Given the description of an element on the screen output the (x, y) to click on. 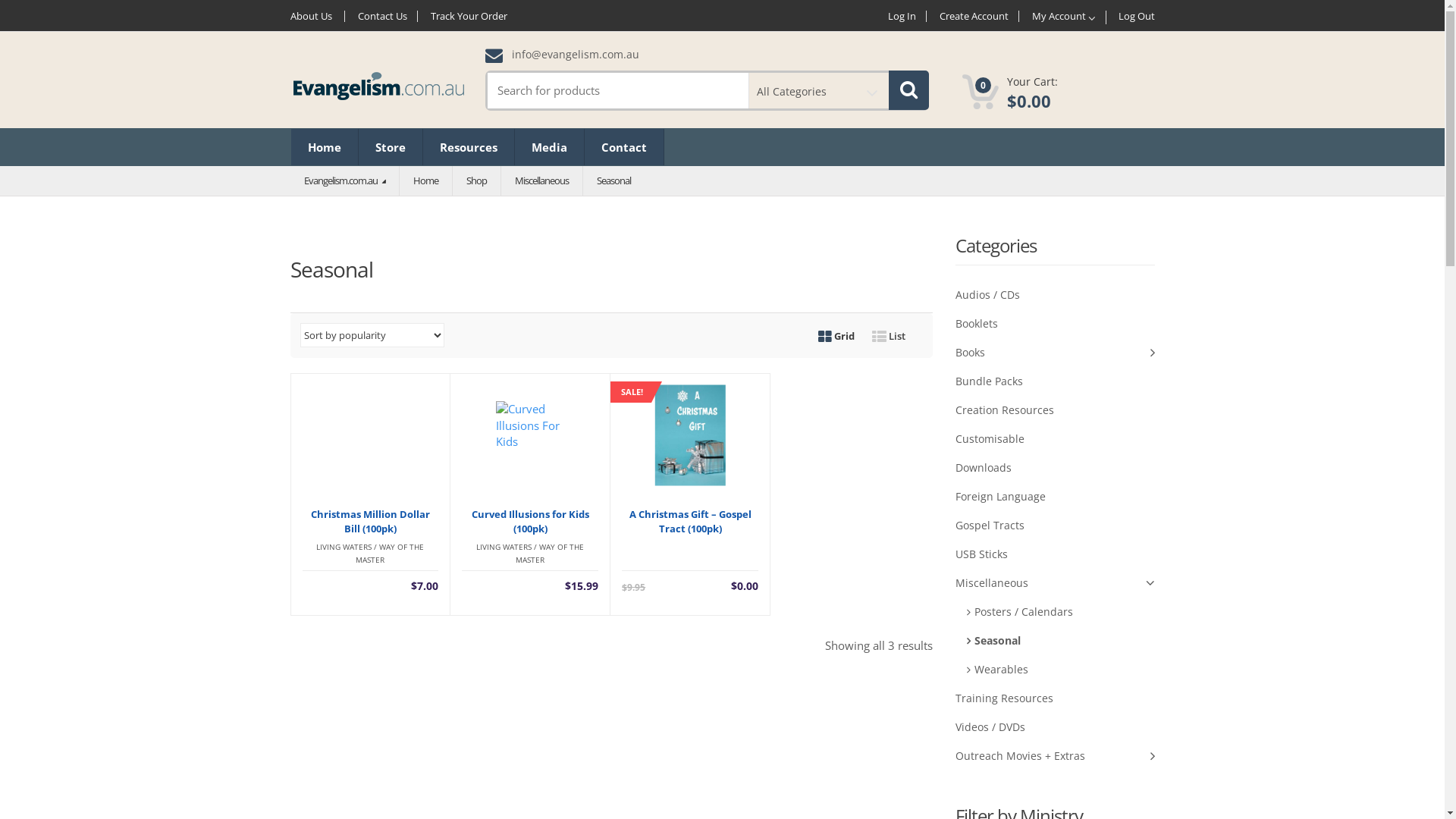
Seasonal Element type: text (1060, 640)
Downloads Element type: text (1054, 467)
Home Element type: text (424, 180)
Contact Us Element type: text (382, 15)
Home Element type: text (324, 146)
List Element type: text (888, 335)
Posters / Calendars Element type: text (1060, 611)
Create Account Element type: text (974, 15)
Videos / DVDs Element type: text (1054, 726)
Customisable Element type: text (1054, 438)
Shop Element type: text (475, 180)
About Us Element type: text (316, 15)
Log In Element type: text (902, 15)
Evangelism.com.au Element type: text (343, 180)
Booklets Element type: text (1054, 323)
Track Your Order Element type: text (468, 15)
Gospel Tracts Element type: text (1054, 525)
Store Element type: text (389, 146)
0
Your Cart:
$0.00 Element type: text (1009, 92)
Bundle Packs Element type: text (1054, 381)
Resources Element type: text (468, 146)
Miscellaneous Element type: text (1054, 582)
Grid Element type: text (836, 335)
Media Element type: text (548, 146)
Miscellaneous Element type: text (540, 180)
Foreign Language Element type: text (1054, 496)
Contact Element type: text (622, 146)
Wearables Element type: text (1060, 669)
USB Sticks Element type: text (1054, 553)
Audios / CDs Element type: text (1054, 294)
Training Resources Element type: text (1054, 698)
My Account Element type: text (1064, 17)
Outreach Movies + Extras Element type: text (1054, 755)
Log Out Element type: text (1131, 15)
Books Element type: text (1054, 352)
Creation Resources Element type: text (1054, 409)
